Given the description of an element on the screen output the (x, y) to click on. 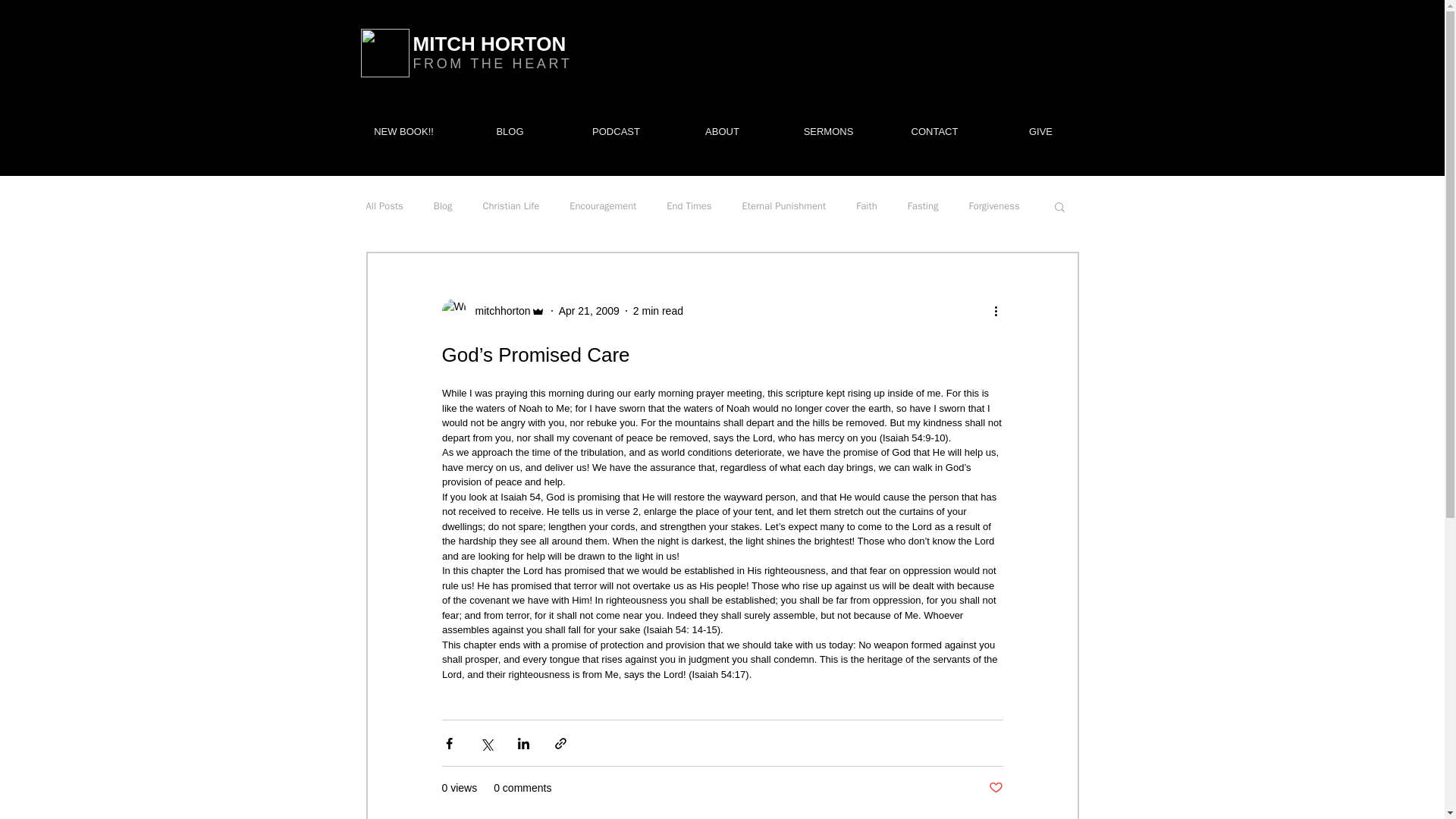
Fasting (923, 205)
MITCH HORTON (489, 43)
All Posts (384, 205)
CONTACT (933, 131)
PODCAST (615, 131)
mitchhorton (497, 311)
SERMONS (827, 131)
Apr 21, 2009 (589, 310)
GIVE (1040, 131)
Eternal Punishment (784, 205)
Blog (442, 205)
NEW BOOK!! (403, 131)
FROM THE HEART (492, 63)
Christian Life (511, 205)
Forgiveness (993, 205)
